Given the description of an element on the screen output the (x, y) to click on. 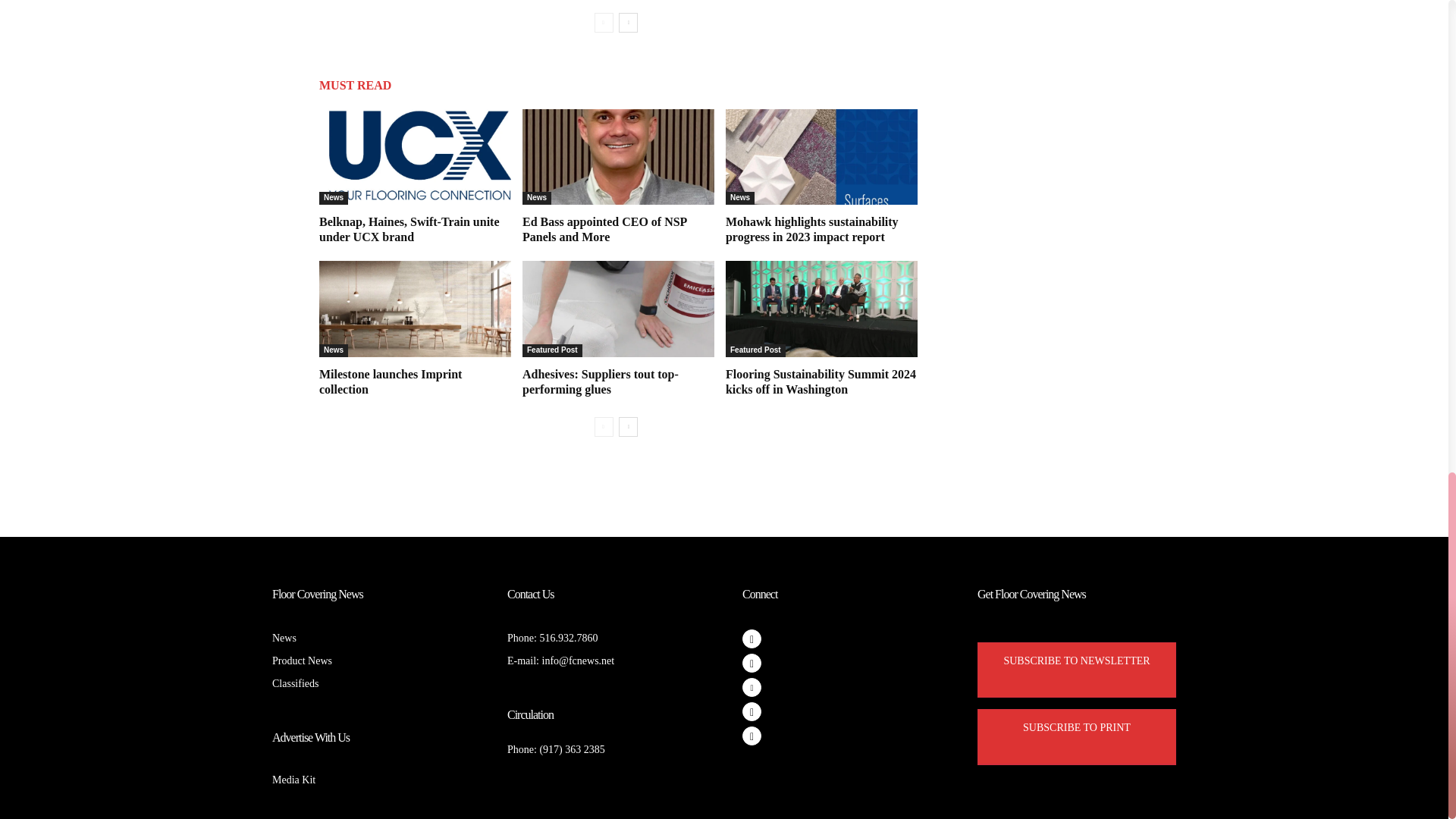
Belknap, Haines, Swift-Train unite under UCX brand (414, 156)
Ed Bass appointed CEO of NSP Panels and More (604, 229)
Ed Bass appointed CEO of NSP Panels and More (618, 156)
Belknap, Haines, Swift-Train unite under UCX brand (408, 229)
